Given the description of an element on the screen output the (x, y) to click on. 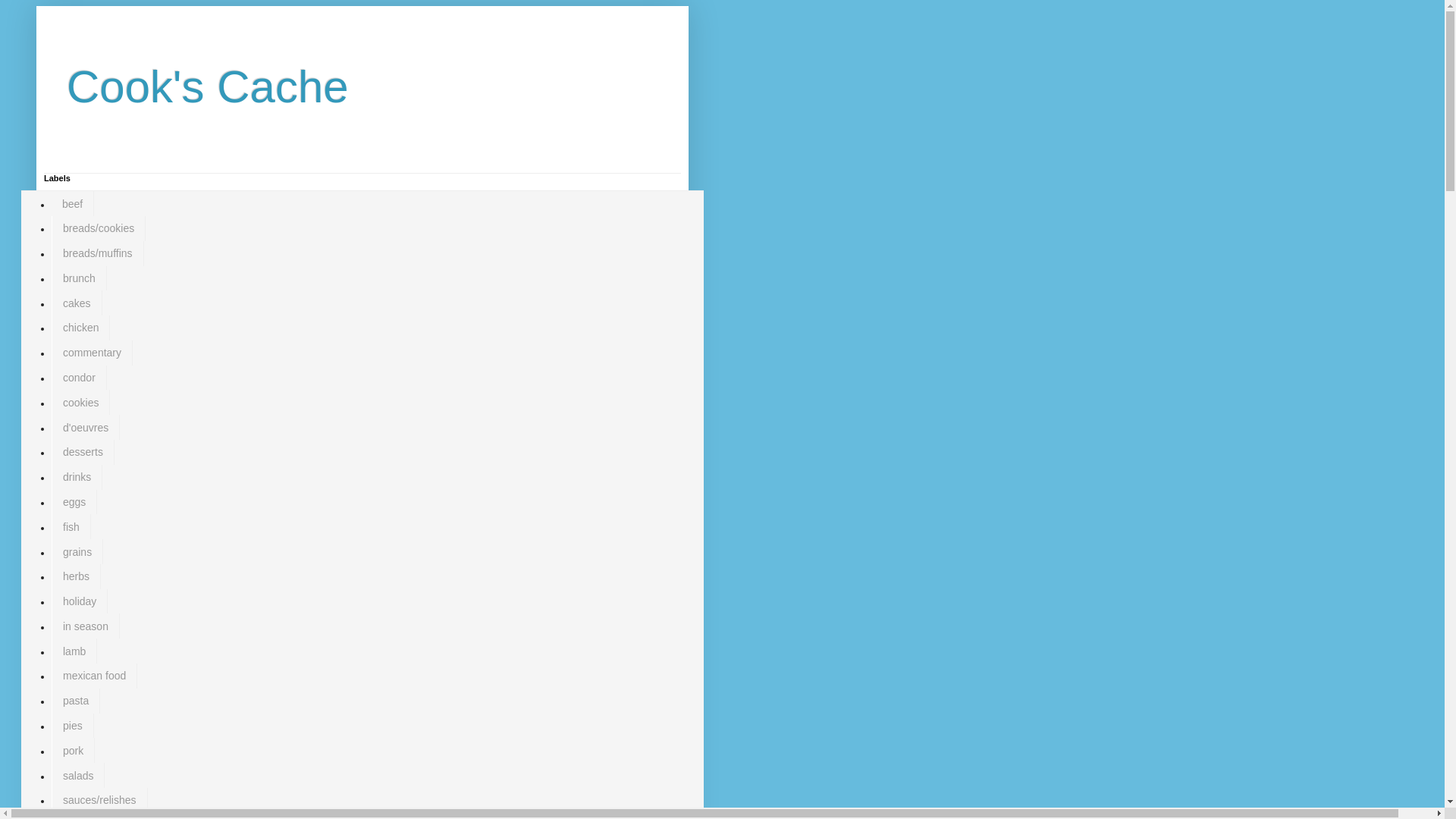
seafood (81, 816)
condor (78, 377)
brunch (78, 278)
in season (84, 625)
commentary (91, 352)
cakes (75, 302)
pies (72, 725)
herbs (75, 576)
pasta (75, 700)
cookies (80, 401)
fish (70, 526)
grains (76, 551)
chicken (80, 327)
holiday (78, 601)
eggs (73, 502)
